Given the description of an element on the screen output the (x, y) to click on. 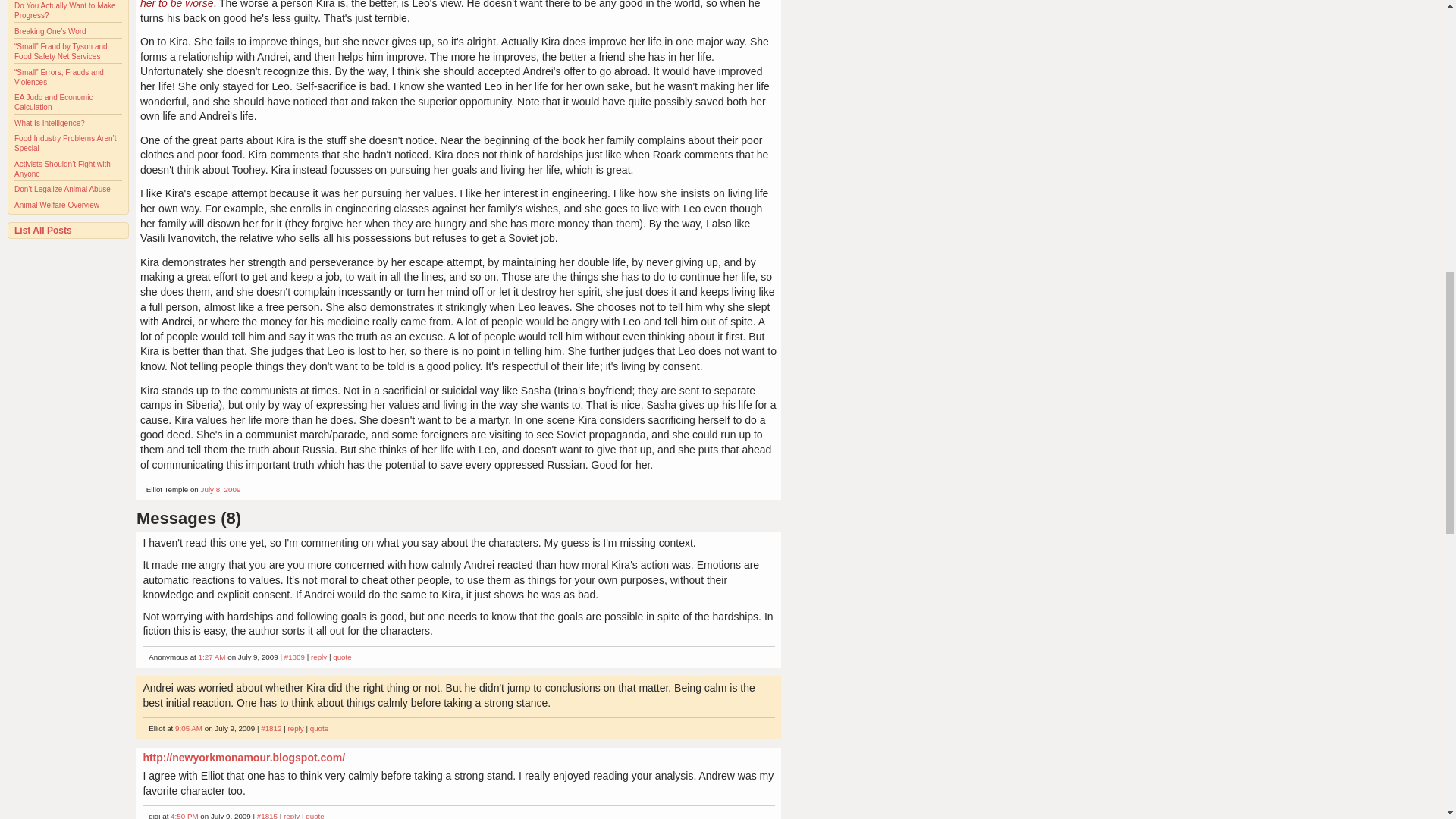
EA Judo and Economic Calculation (53, 102)
What Is Intelligence? (49, 122)
Do You Actually Want to Make Progress? (65, 10)
